Given the description of an element on the screen output the (x, y) to click on. 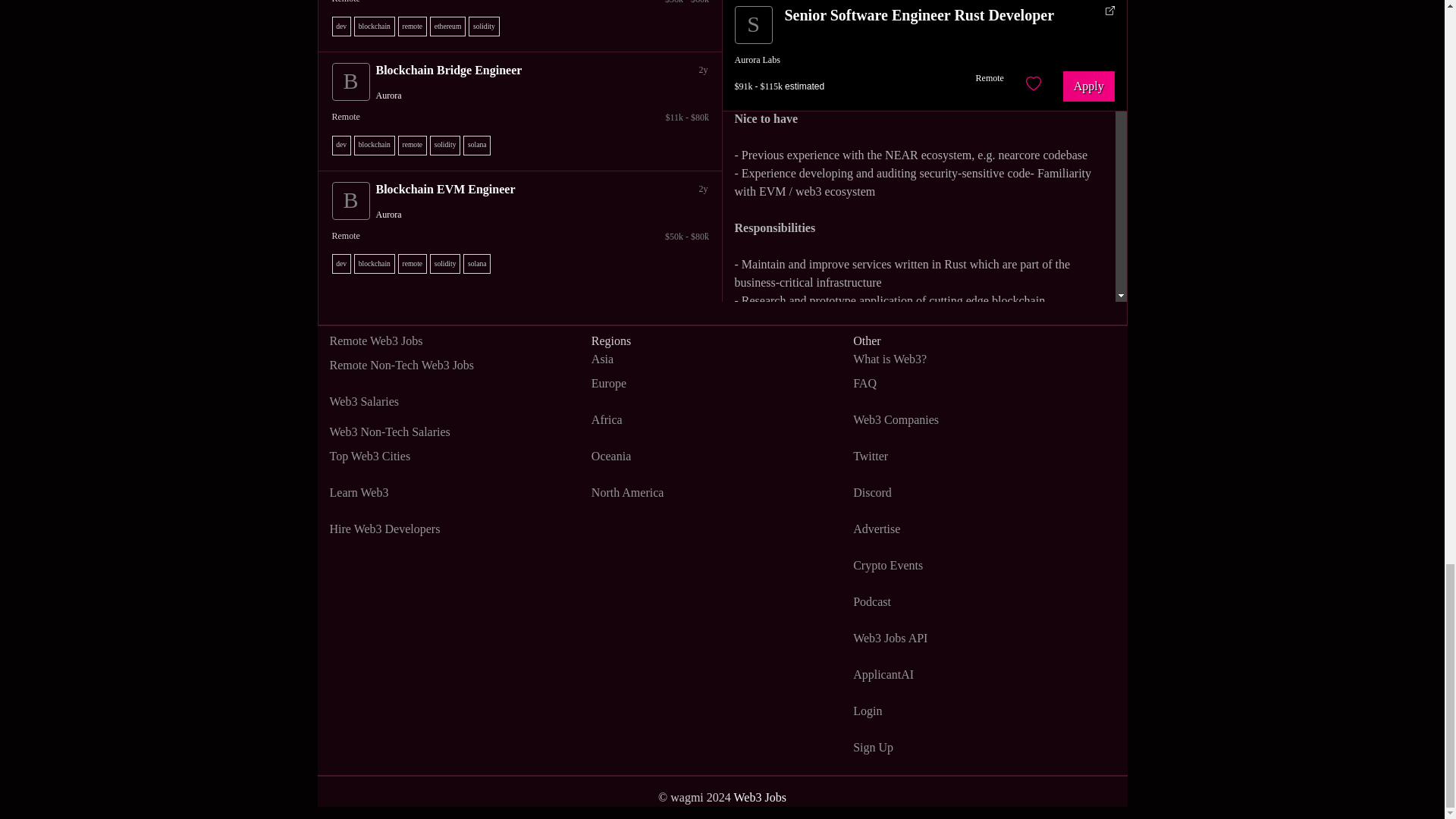
Estimated salary based on similar jobs (522, 117)
Estimated salary based on similar jobs (522, 2)
Estimated salary based on similar jobs (522, 236)
